Given the description of an element on the screen output the (x, y) to click on. 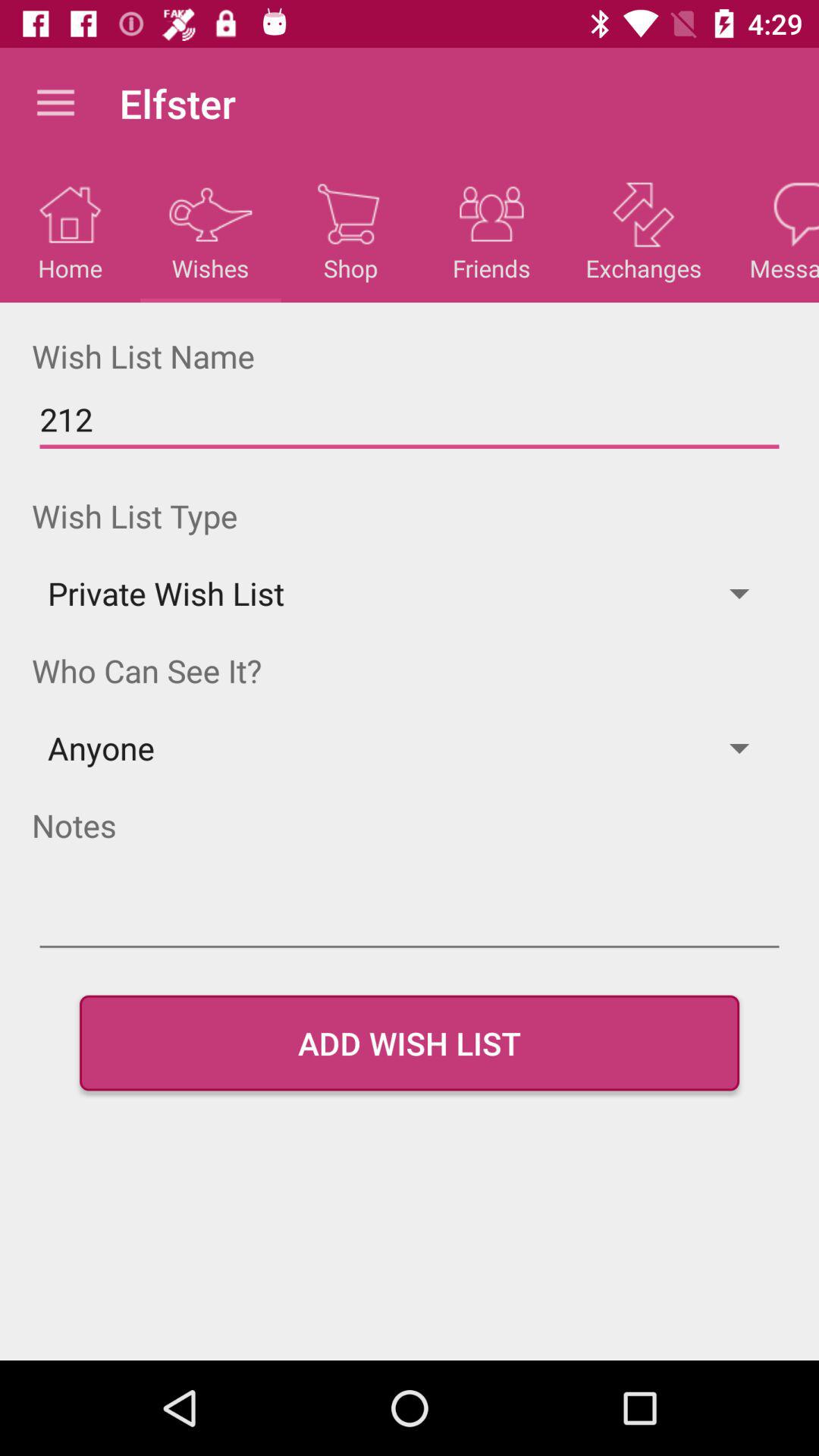
enter notes (409, 920)
